Given the description of an element on the screen output the (x, y) to click on. 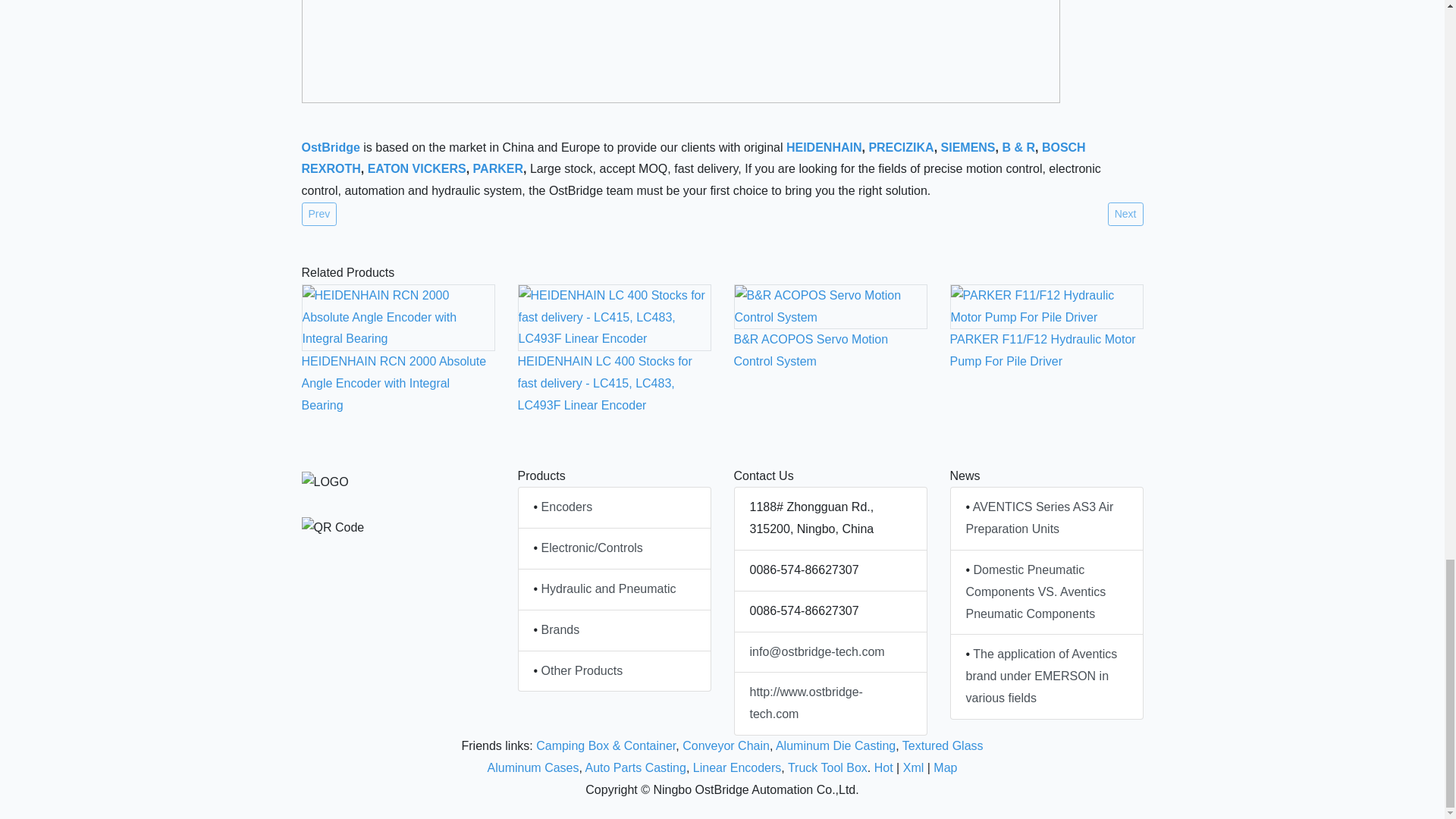
Other Products (582, 670)
Hydraulic and Pneumatic (609, 588)
Brands (560, 629)
Encoders (566, 506)
